Given the description of an element on the screen output the (x, y) to click on. 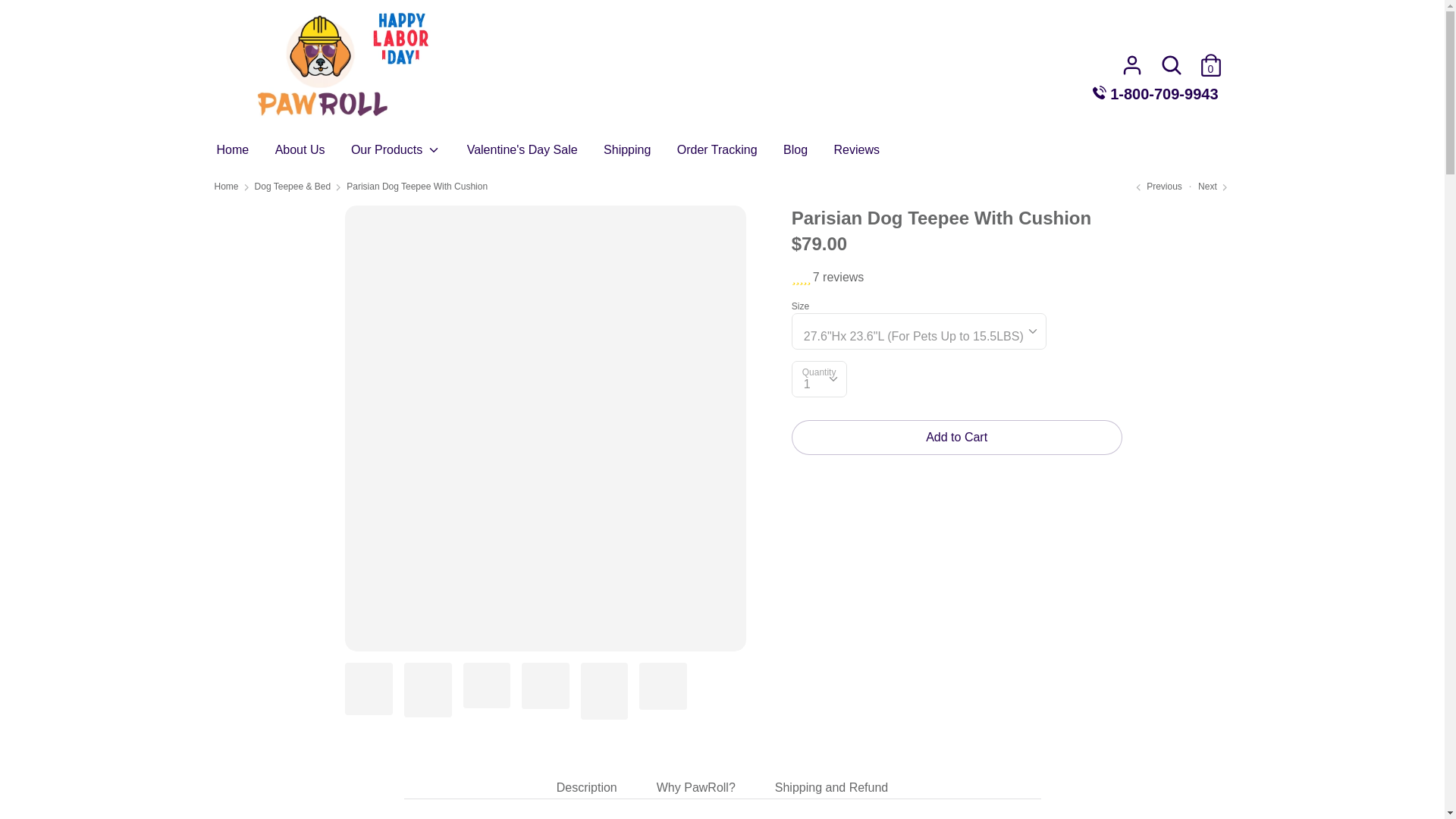
Western Home Orthopedic Dog Bed (1156, 185)
Search (1171, 64)
0 (1210, 59)
ZaPaw Dog Teepee With Cushion (1214, 185)
1-800-709-9943 (1155, 93)
